Given the description of an element on the screen output the (x, y) to click on. 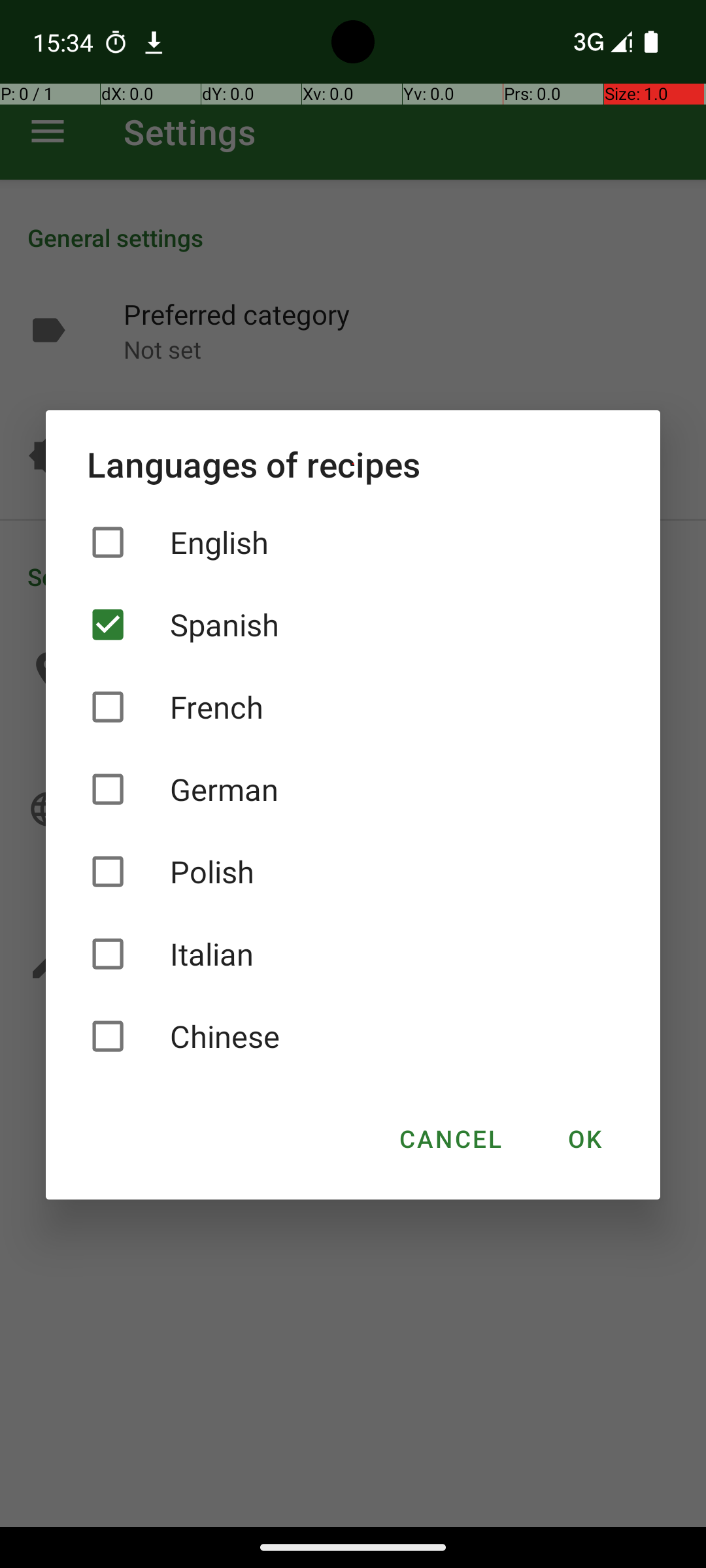
Languages of recipes Element type: android.widget.TextView (352, 464)
Spanish Element type: android.widget.CheckedTextView (352, 624)
French Element type: android.widget.CheckedTextView (352, 706)
German Element type: android.widget.CheckedTextView (352, 789)
Polish Element type: android.widget.CheckedTextView (352, 871)
Italian Element type: android.widget.CheckedTextView (352, 953)
Chinese Element type: android.widget.CheckedTextView (352, 1036)
